Given the description of an element on the screen output the (x, y) to click on. 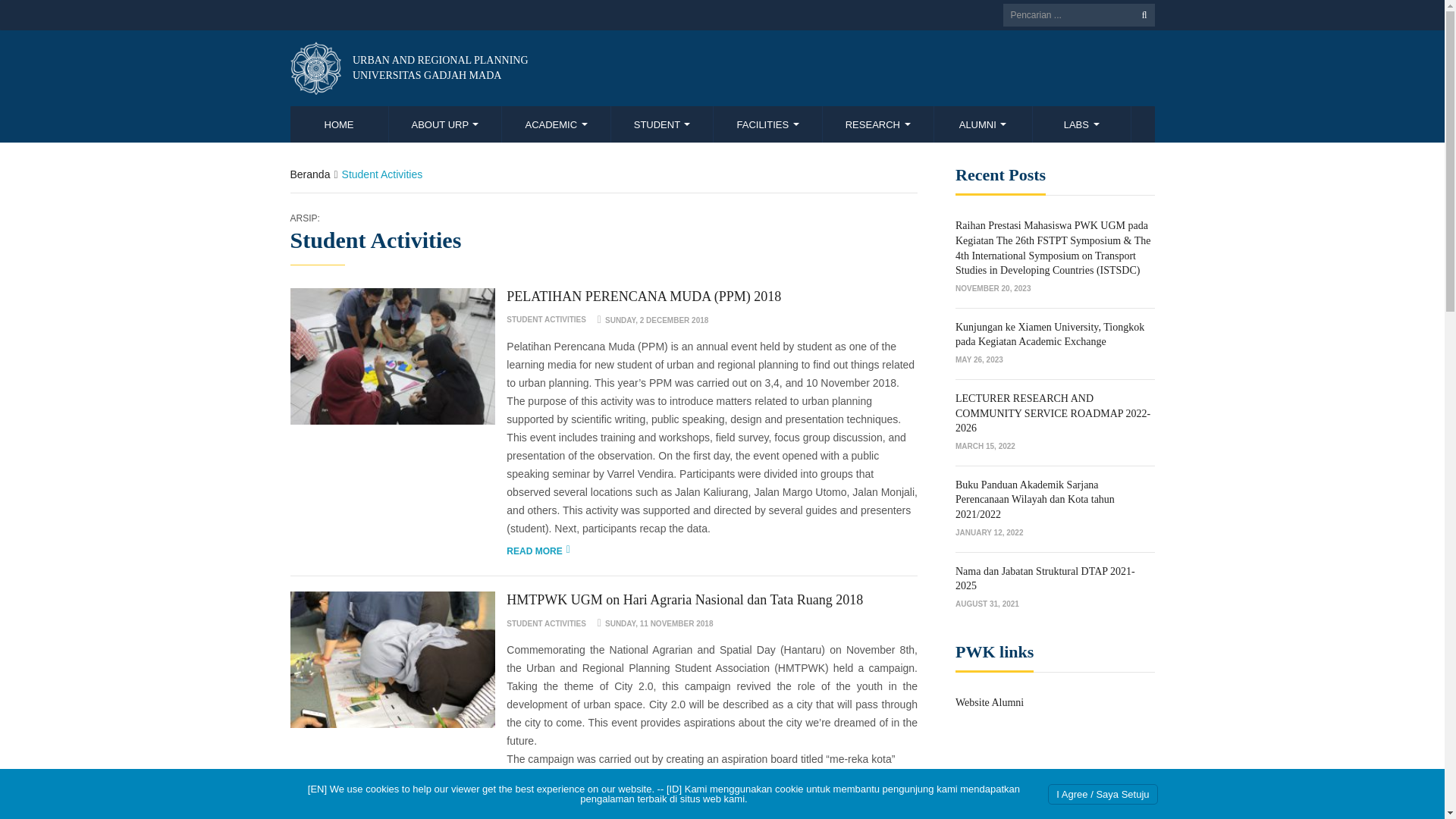
STUDENT (662, 124)
ACADEMIC (556, 124)
Academic (556, 124)
About URP (445, 124)
HOME (338, 124)
FACILITIES (767, 124)
ABOUT URP (408, 68)
Home (445, 124)
